Given the description of an element on the screen output the (x, y) to click on. 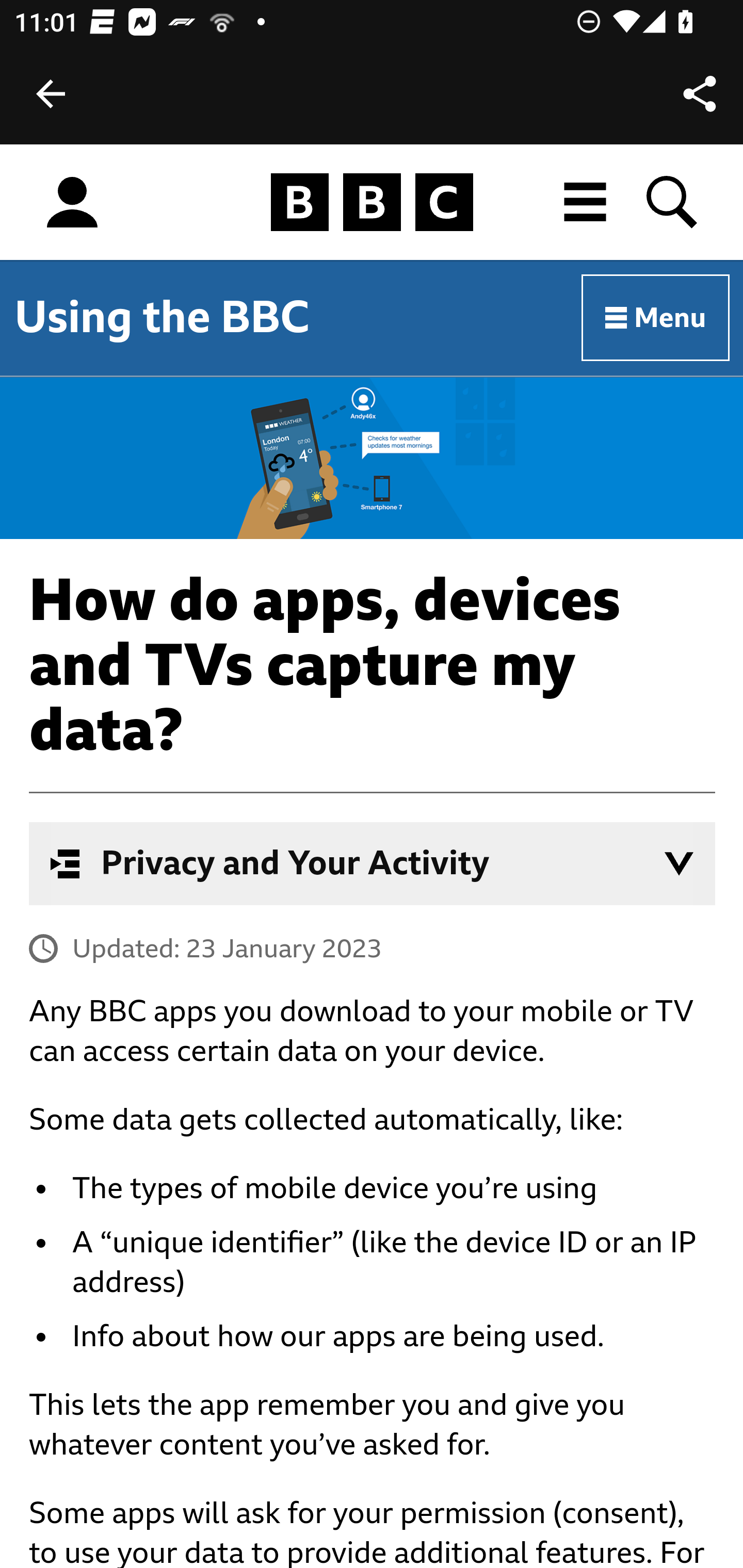
Back (50, 93)
Share (699, 93)
All BBC destinations menu (585, 202)
Search BBC (672, 202)
Sign in (71, 203)
Homepage (371, 203)
Menu (656, 318)
Using the BBC (162, 317)
Privacy and Your Activity (372, 863)
